Given the description of an element on the screen output the (x, y) to click on. 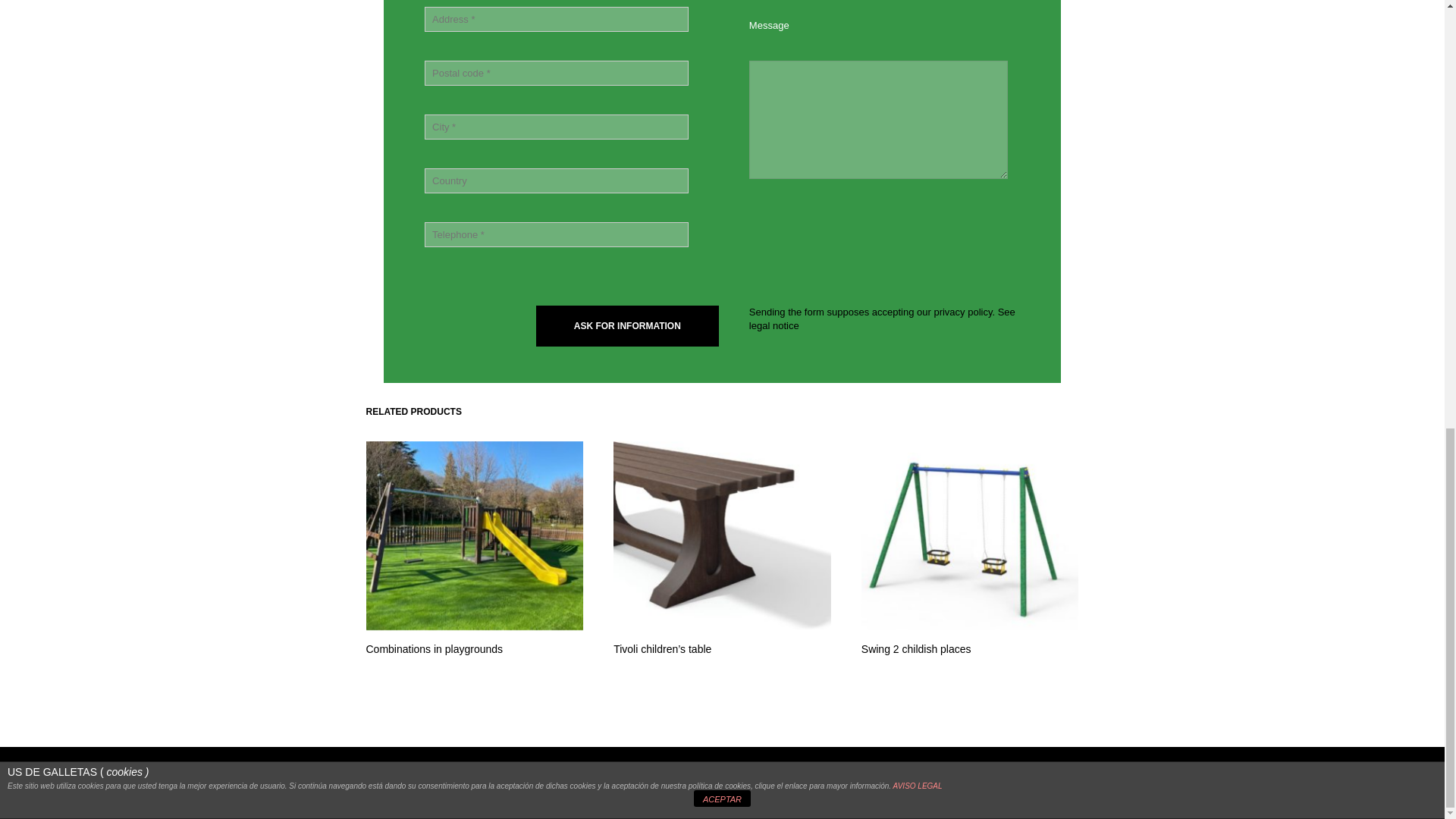
Ask for information (627, 325)
